Given the description of an element on the screen output the (x, y) to click on. 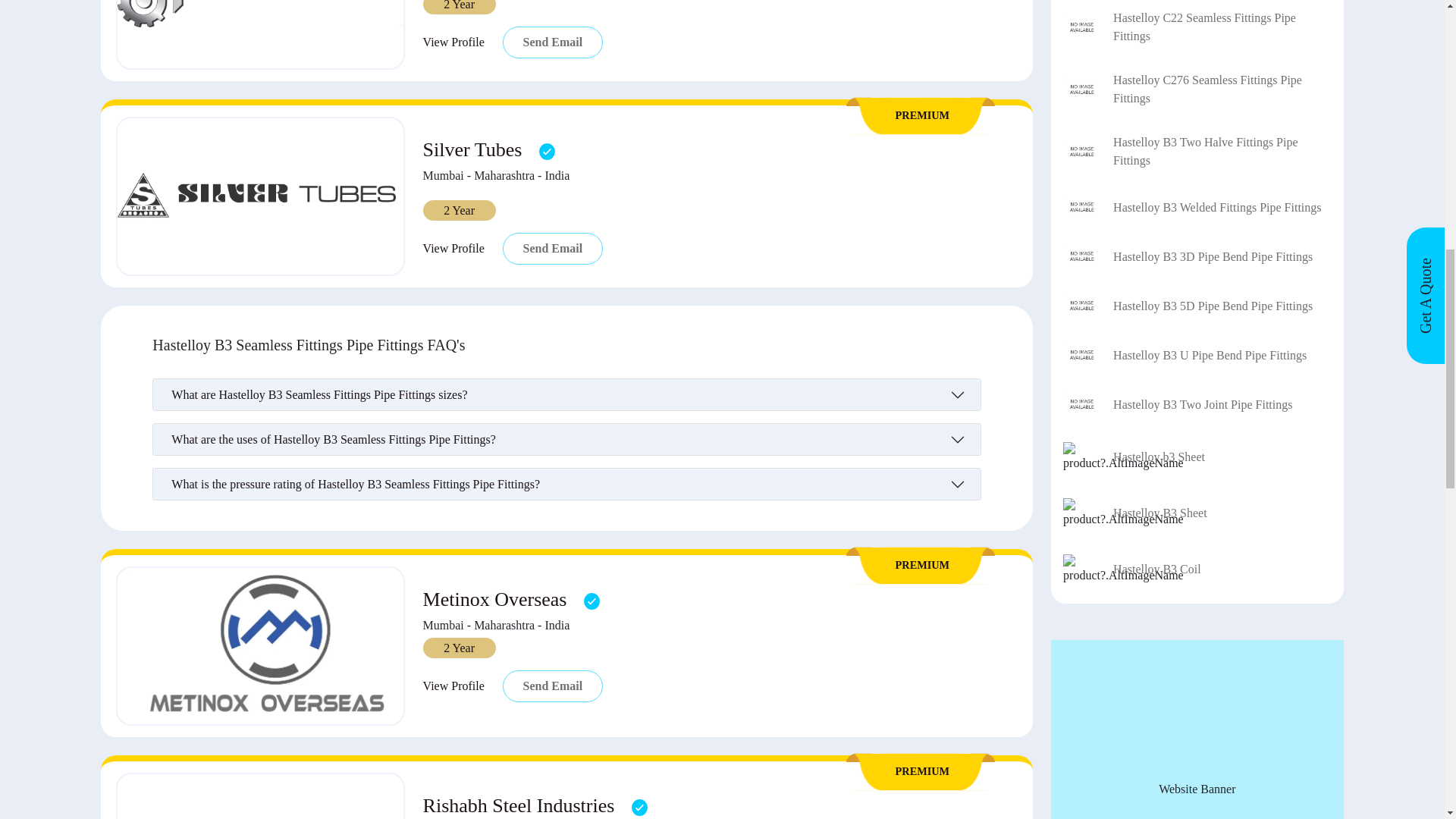
Tax ID verified. Email verified. (546, 150)
Tax ID verified. Email verified. (591, 600)
Tax ID verified. Email verified. (639, 806)
